Given the description of an element on the screen output the (x, y) to click on. 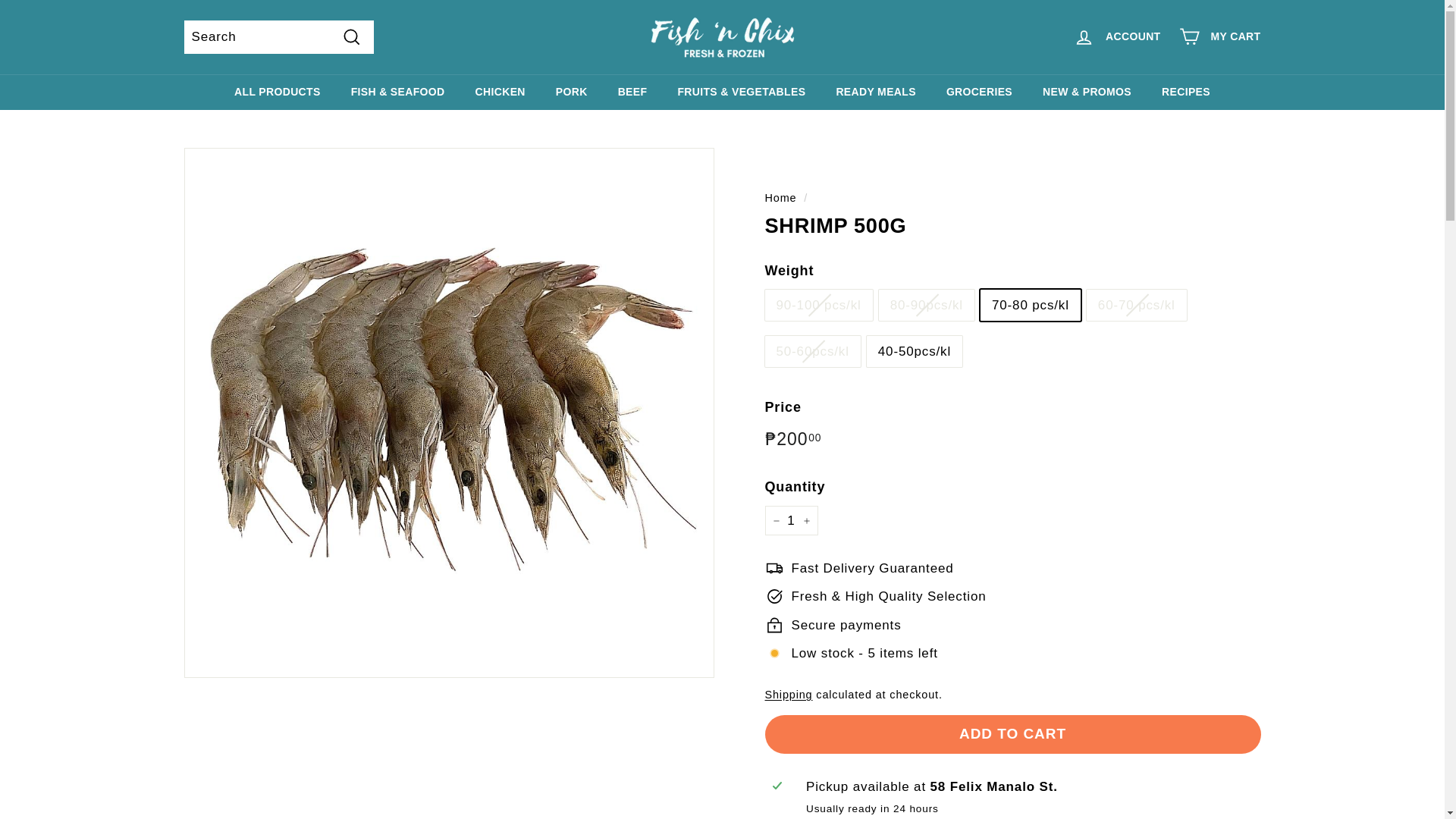
CHICKEN (500, 91)
PORK (571, 91)
READY MEALS (876, 91)
GROCERIES (979, 91)
ALL PRODUCTS (277, 91)
1 (790, 520)
ACCOUNT (1116, 36)
BEEF (632, 91)
Back to the frontpage (780, 197)
